Given the description of an element on the screen output the (x, y) to click on. 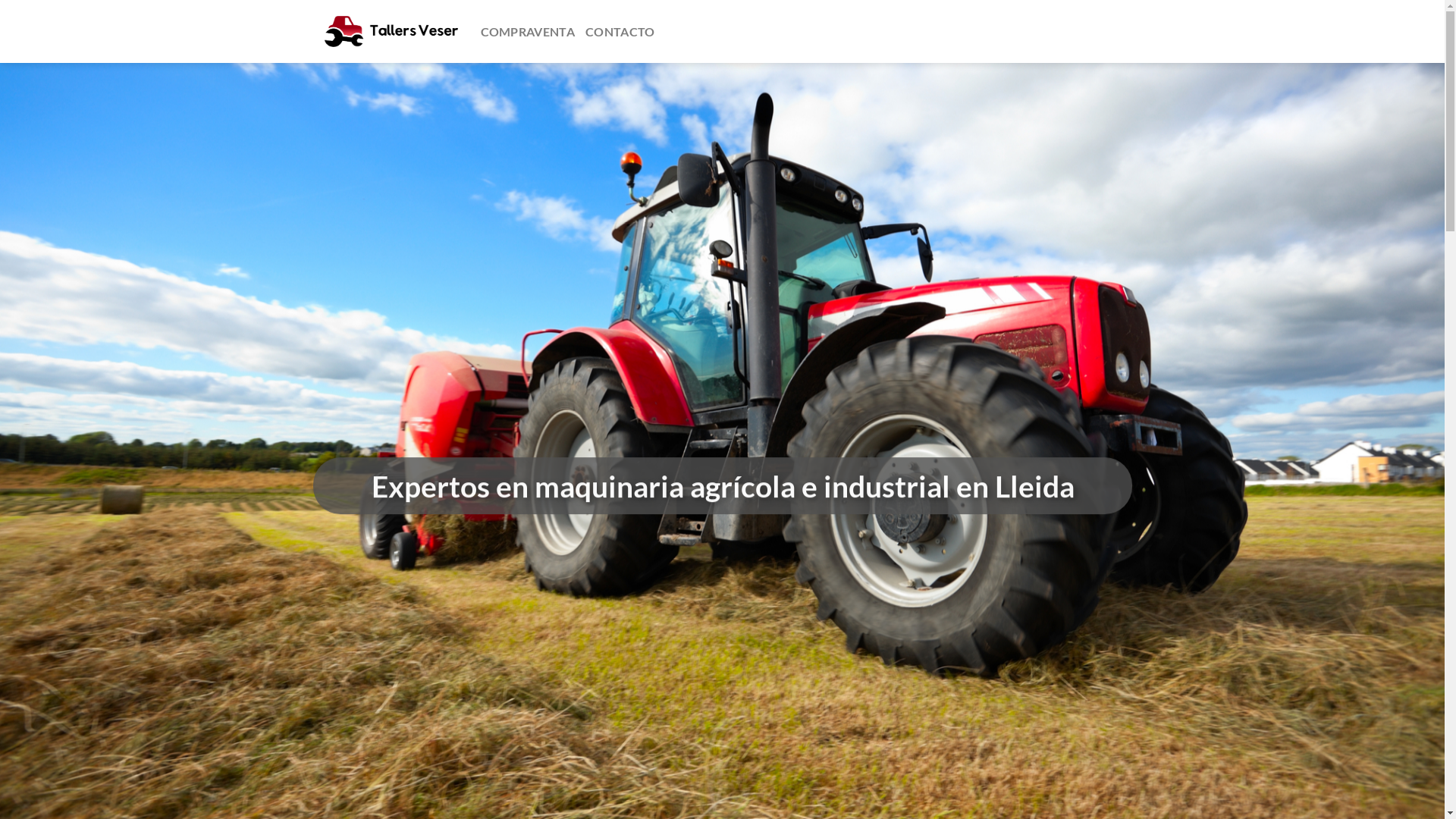
CONTACTO Element type: text (620, 31)
COMPRAVENTA Element type: text (527, 31)
